Given the description of an element on the screen output the (x, y) to click on. 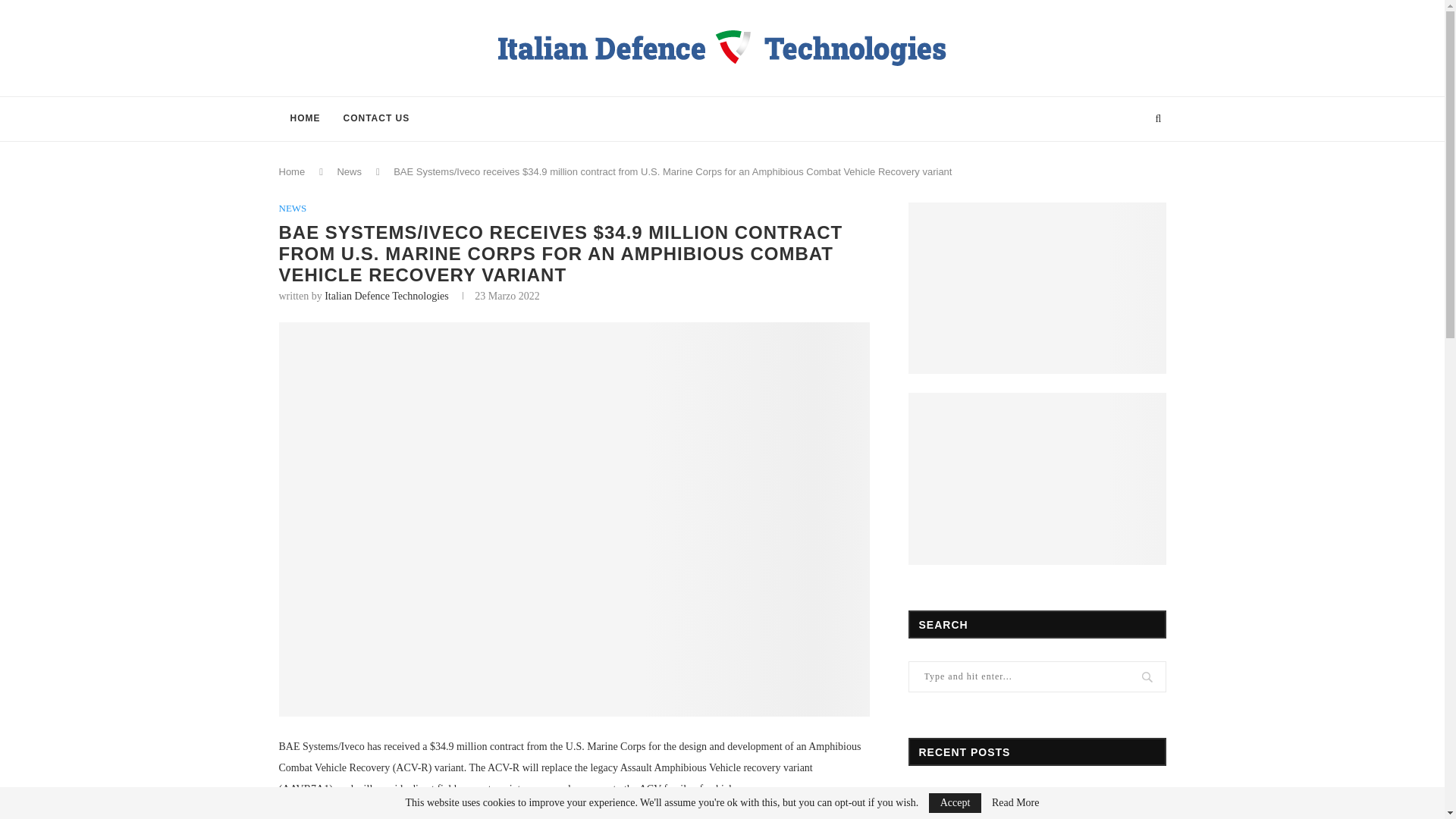
News (348, 171)
CONTACT US (376, 118)
HOME (305, 118)
NEWS (293, 208)
Italian Defence Technologies (386, 296)
Home (292, 171)
